Given the description of an element on the screen output the (x, y) to click on. 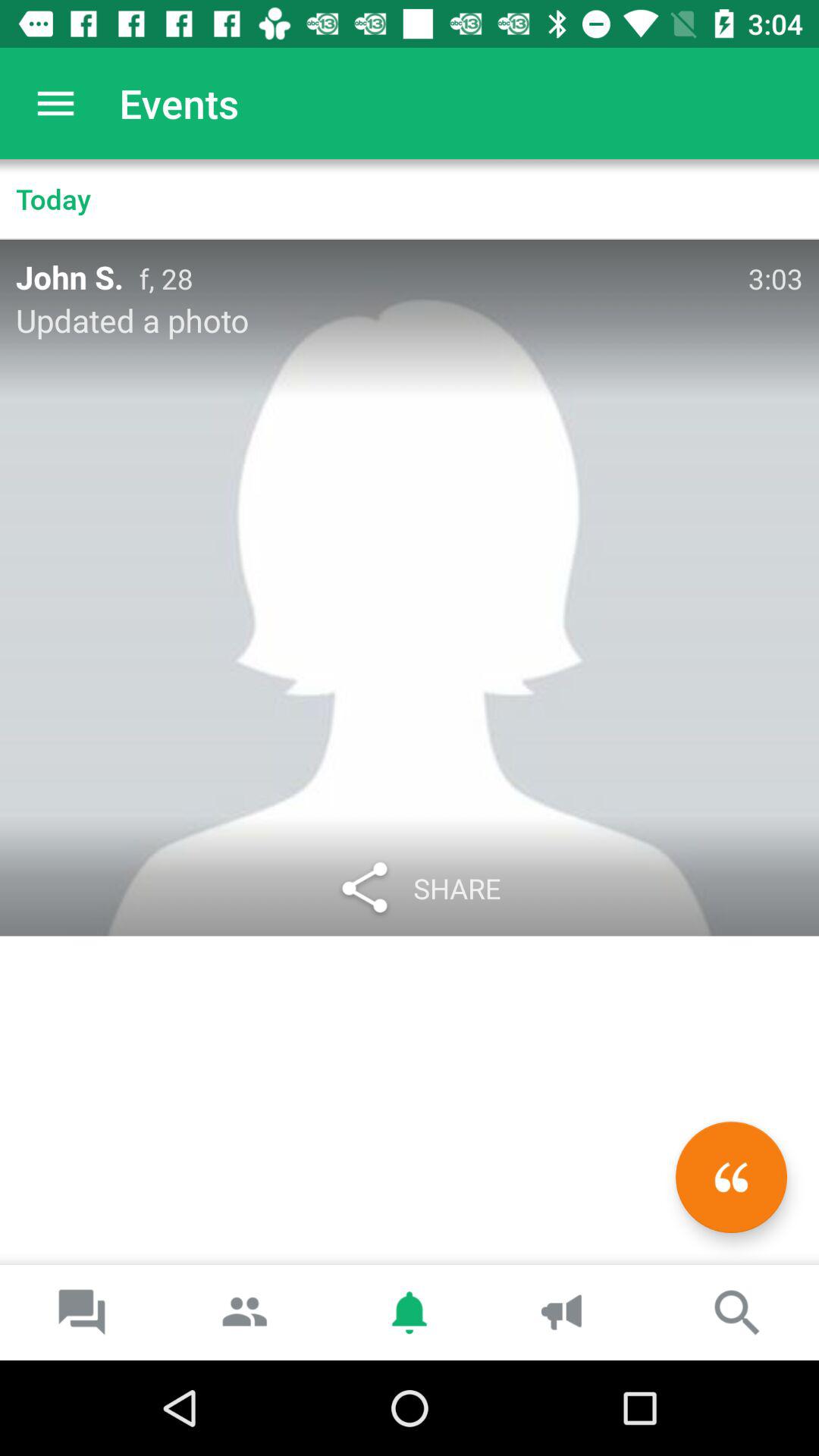
add quote (731, 1177)
